Given the description of an element on the screen output the (x, y) to click on. 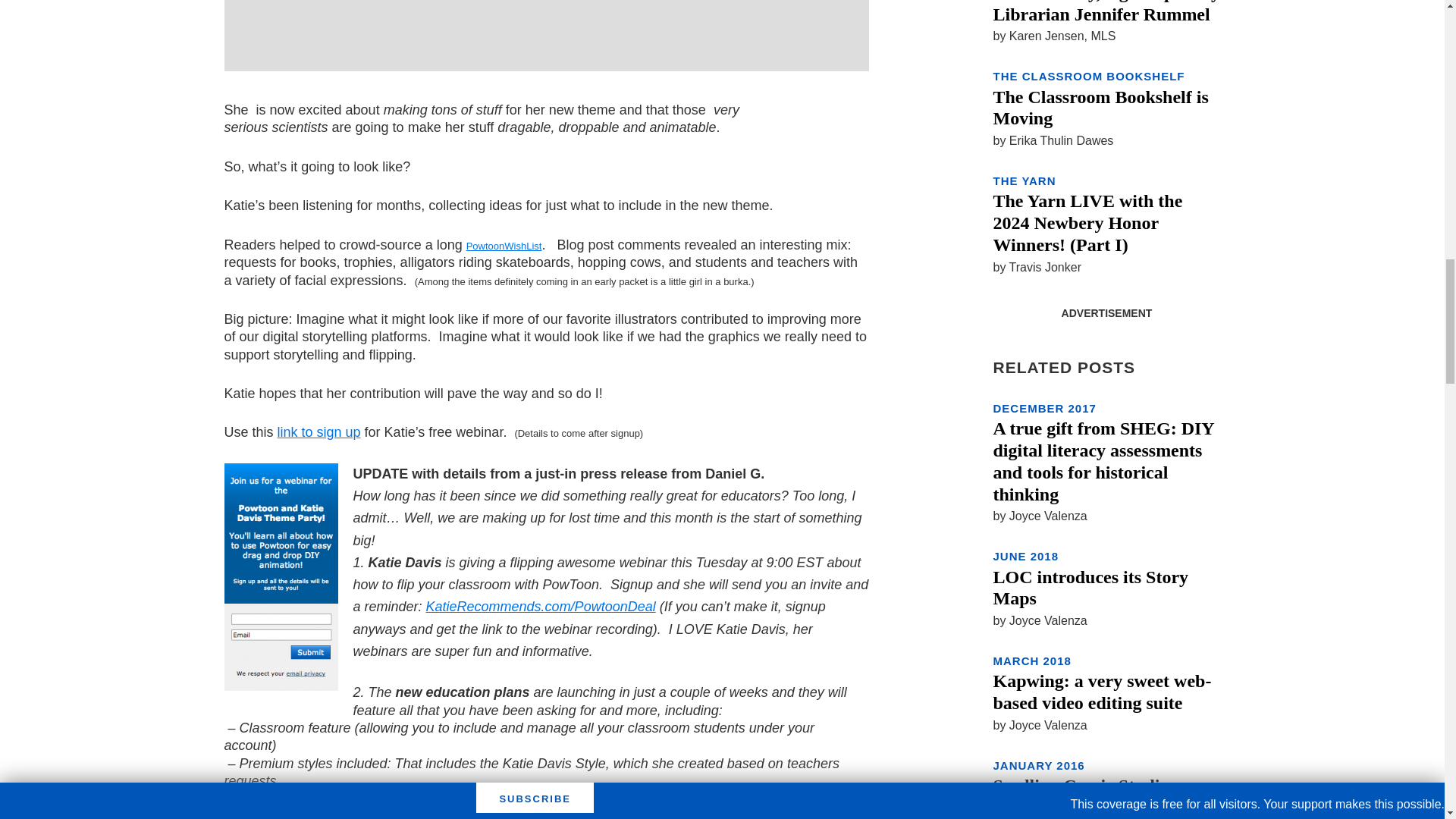
3rd party ad content (545, 28)
